Given the description of an element on the screen output the (x, y) to click on. 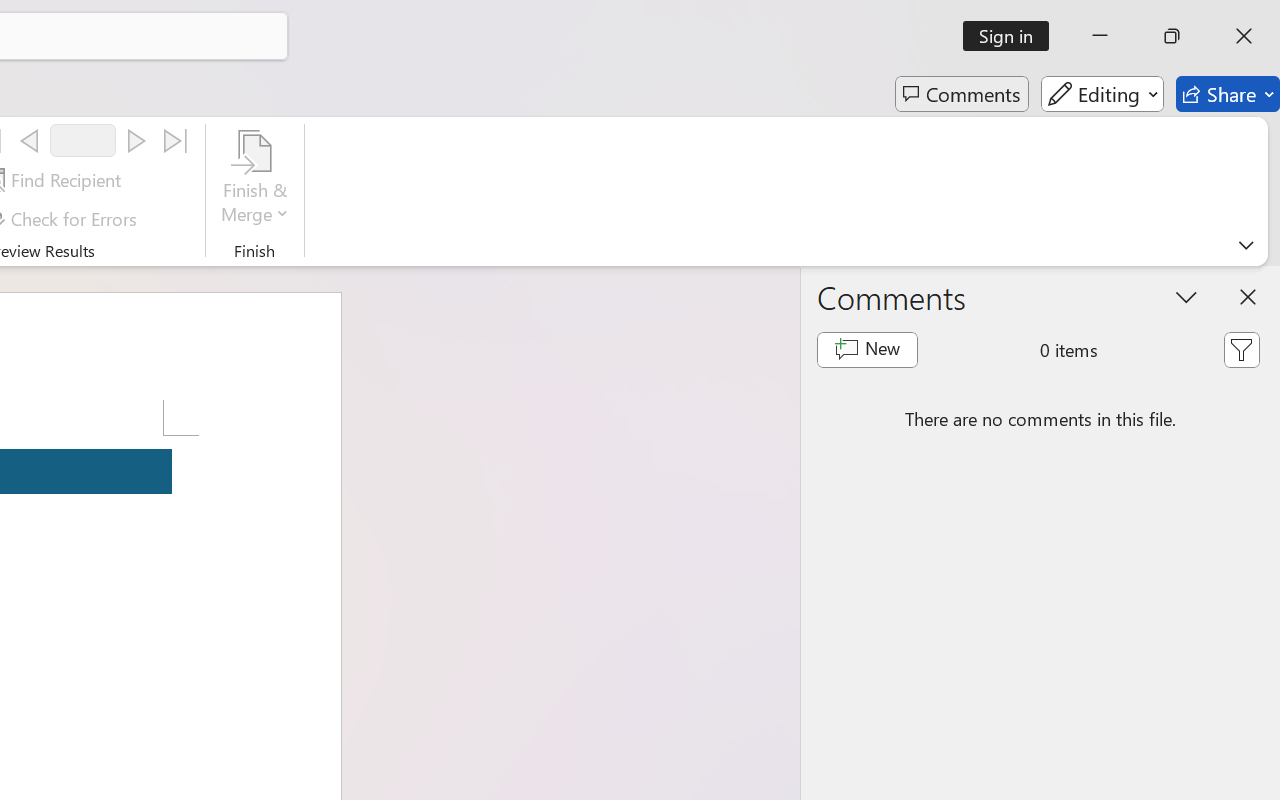
Next (136, 141)
Editing (1101, 94)
Finish & Merge (255, 179)
Previous (29, 141)
Record (83, 140)
New comment (866, 350)
Filter (1241, 350)
Last (175, 141)
